Given the description of an element on the screen output the (x, y) to click on. 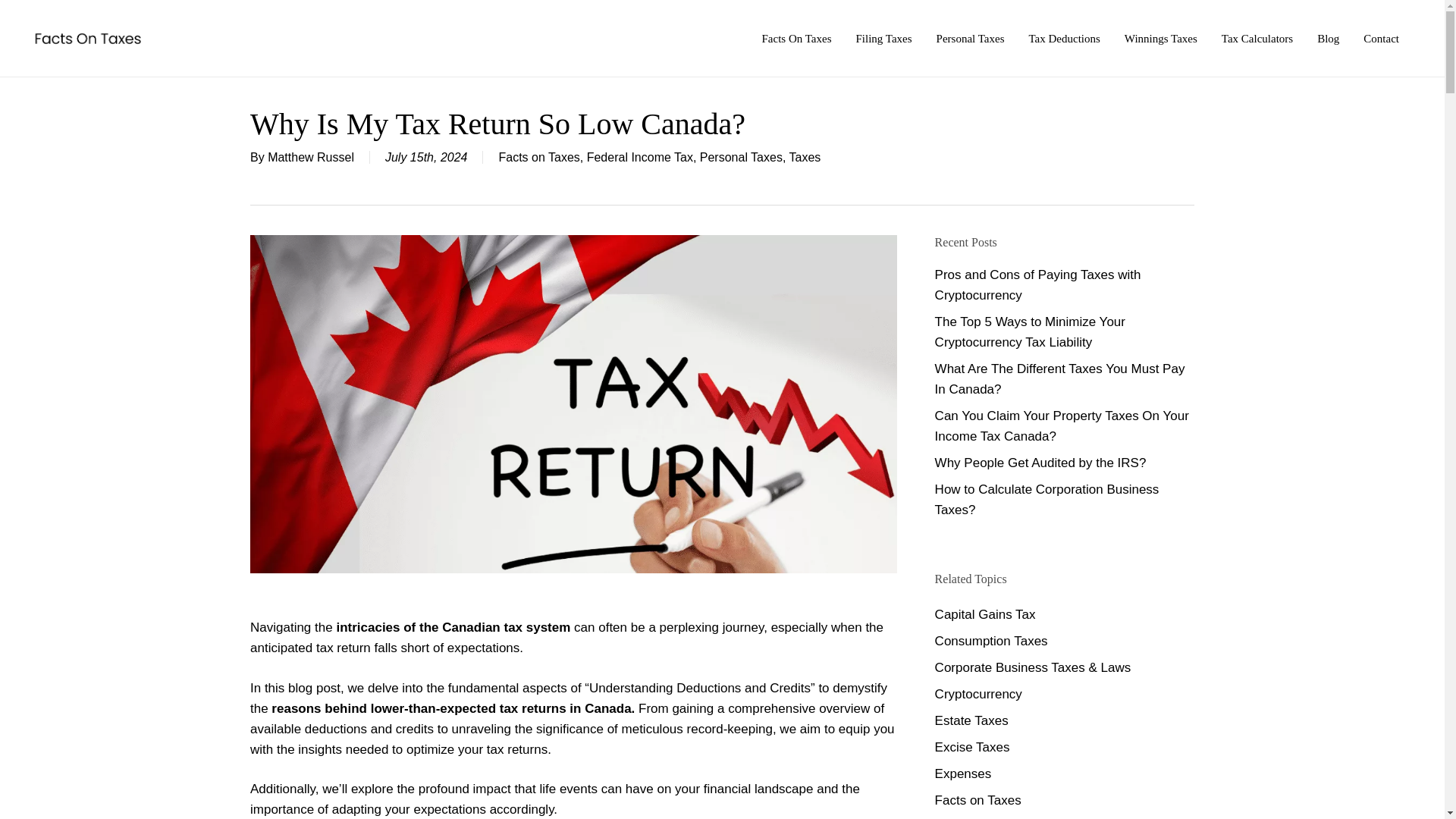
Personal Taxes (970, 37)
Filing Taxes (883, 37)
Blog (1328, 37)
Posts by Matthew Russel (310, 156)
Facts On Taxes (796, 37)
Tax Deductions (1063, 37)
Contact (1380, 37)
Winnings Taxes (1160, 37)
Tax Calculators (1256, 37)
